Given the description of an element on the screen output the (x, y) to click on. 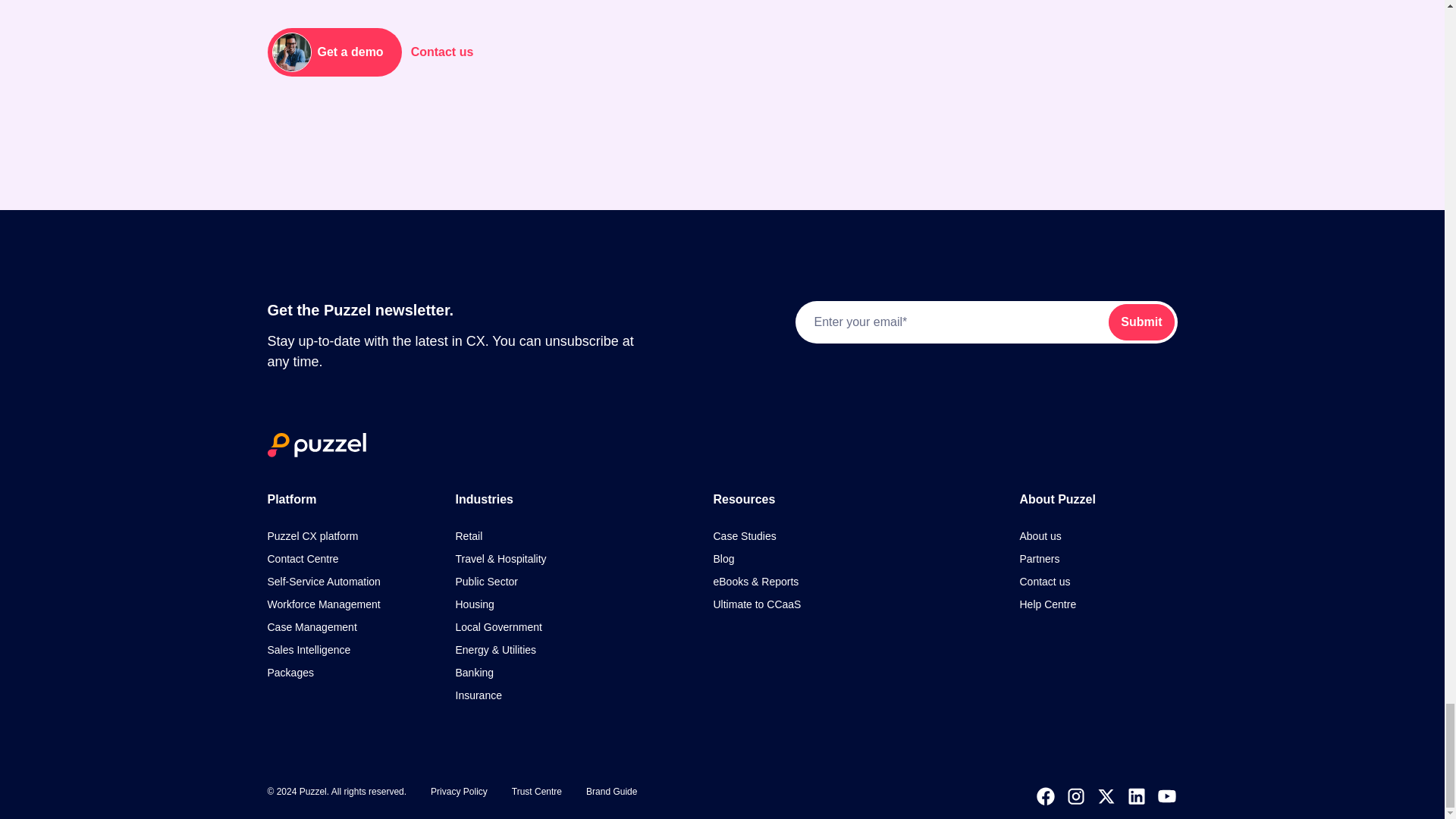
Submit (1140, 321)
